Given the description of an element on the screen output the (x, y) to click on. 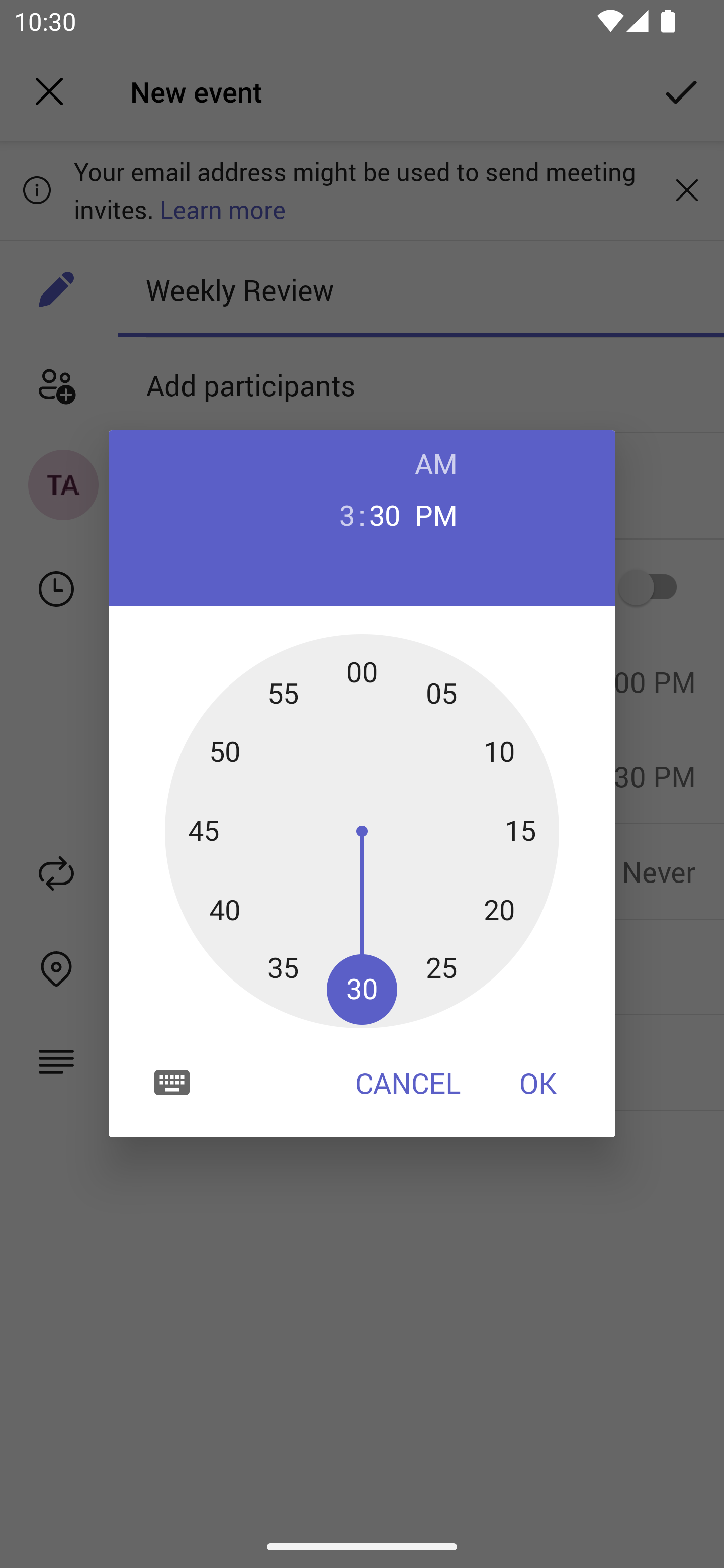
AM (435, 463)
PM (435, 514)
3 (338, 514)
30 (384, 514)
CANCEL (407, 1082)
OK (537, 1082)
Switch to text input mode for the time input. (171, 1081)
